Given the description of an element on the screen output the (x, y) to click on. 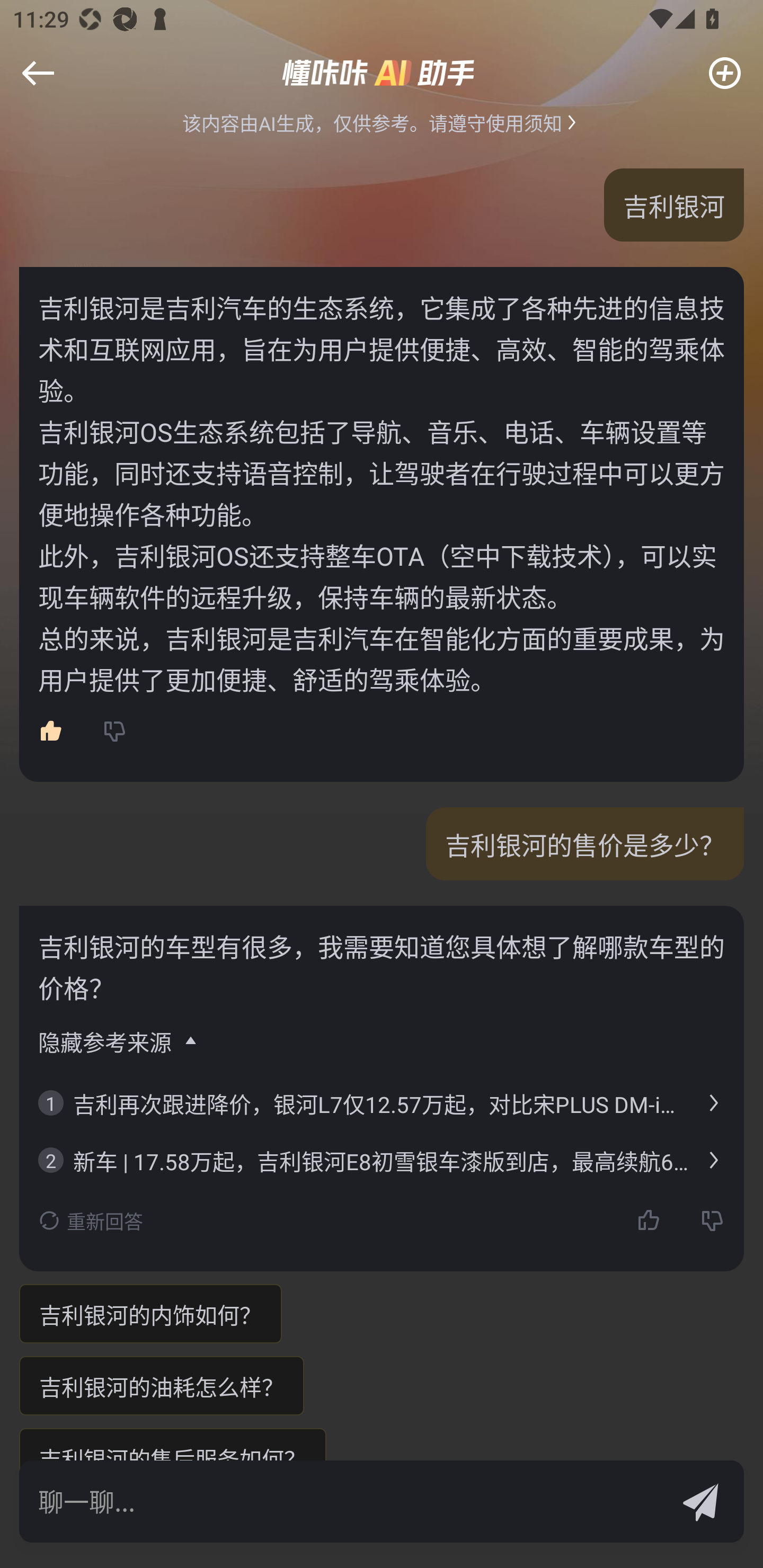
举报 (45, 85)
该内容由AI生成，仅供参考。请遵守使用须知 (381, 122)
隐藏参考来源 (118, 1041)
1吉利再次跟进降价，银河L7仅12.57万起，对比宋PLUS DM-i‎… (381, 1103)
2新车 | 17.58万起，吉利银河E8初雪银车漆版到店，最高续航6‎… (381, 1160)
重新回答 (90, 1220)
